Given the description of an element on the screen output the (x, y) to click on. 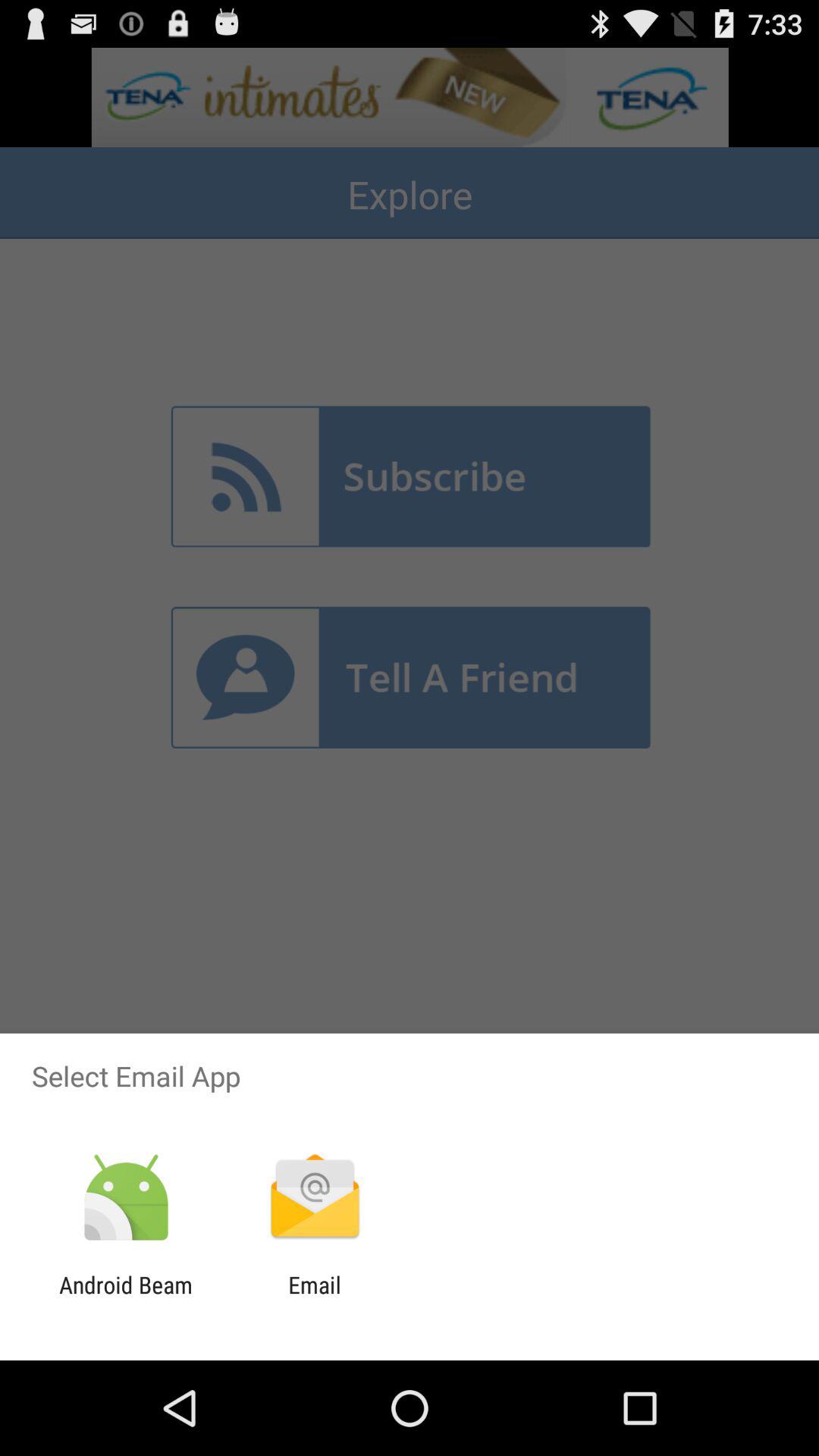
press app next to the email (125, 1298)
